Given the description of an element on the screen output the (x, y) to click on. 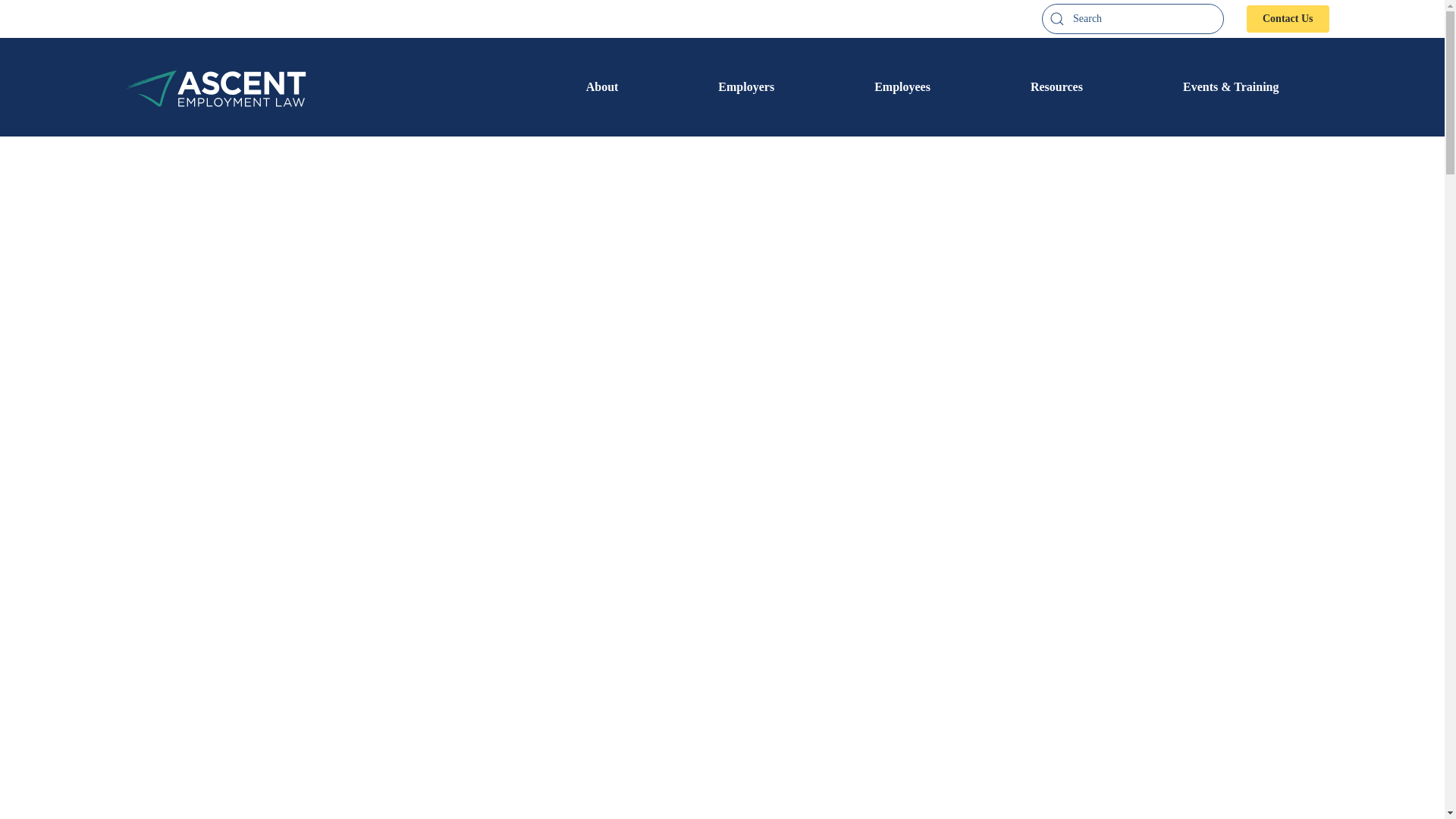
Employees (901, 87)
Employers (746, 87)
Contact Us (1287, 18)
About (601, 87)
